Given the description of an element on the screen output the (x, y) to click on. 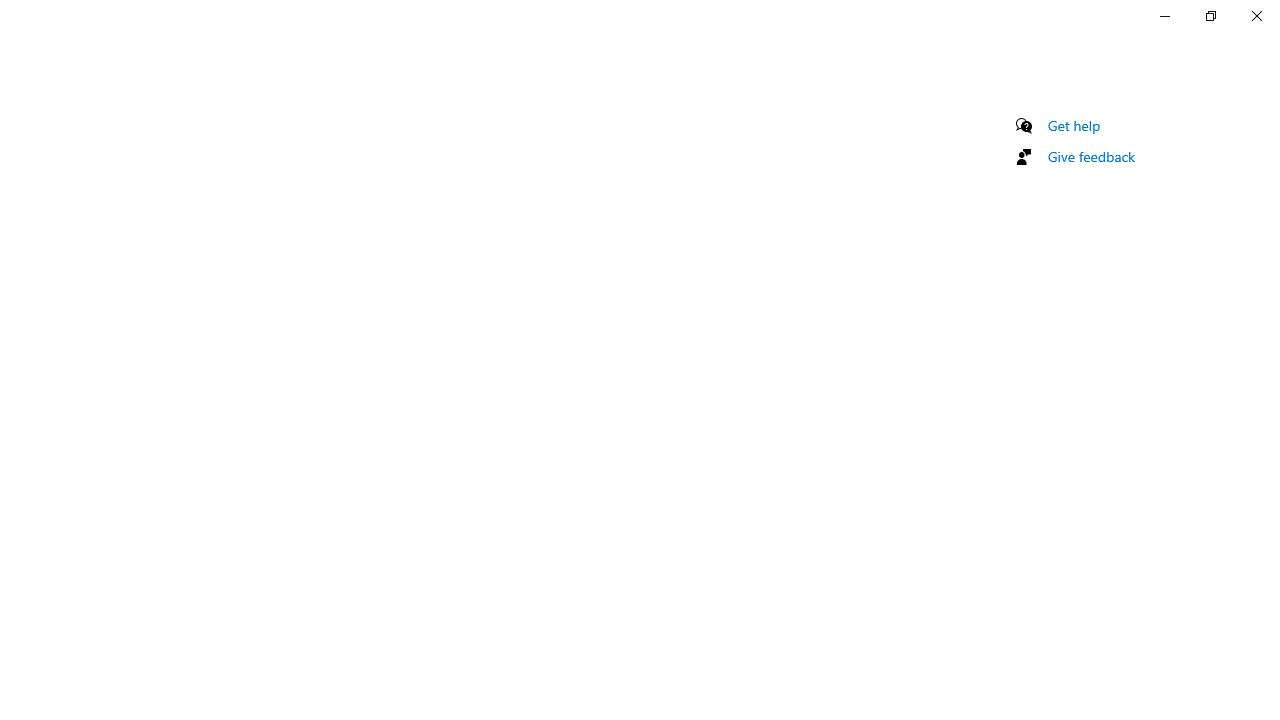
Close Settings (1256, 15)
Restore Settings (1210, 15)
Minimize Settings (1164, 15)
Get help (1074, 125)
Give feedback (1091, 156)
